Given the description of an element on the screen output the (x, y) to click on. 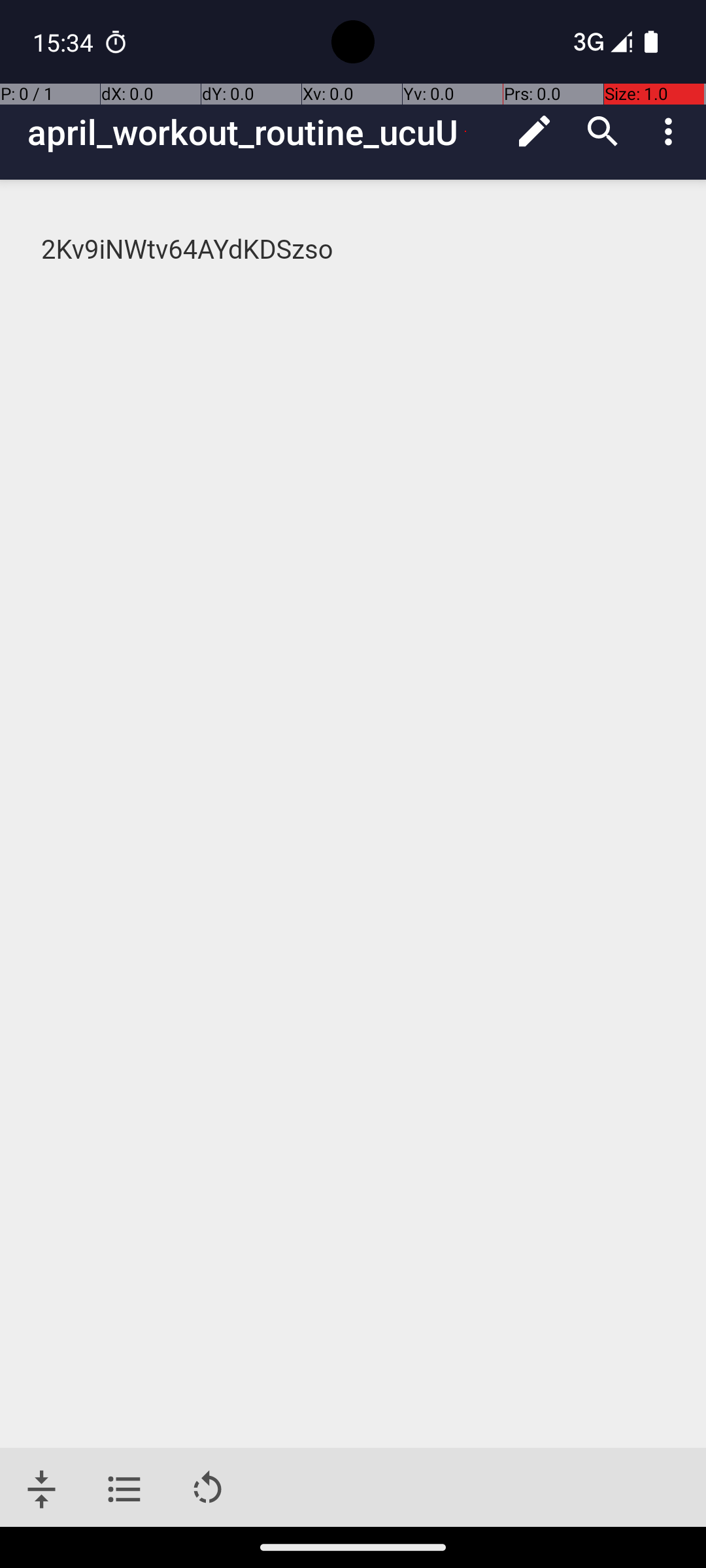
april_workout_routine_ucuU Element type: android.widget.TextView (263, 131)
2Kv9iNWtv64AYdKDSzso Element type: android.widget.TextView (354, 249)
